Given the description of an element on the screen output the (x, y) to click on. 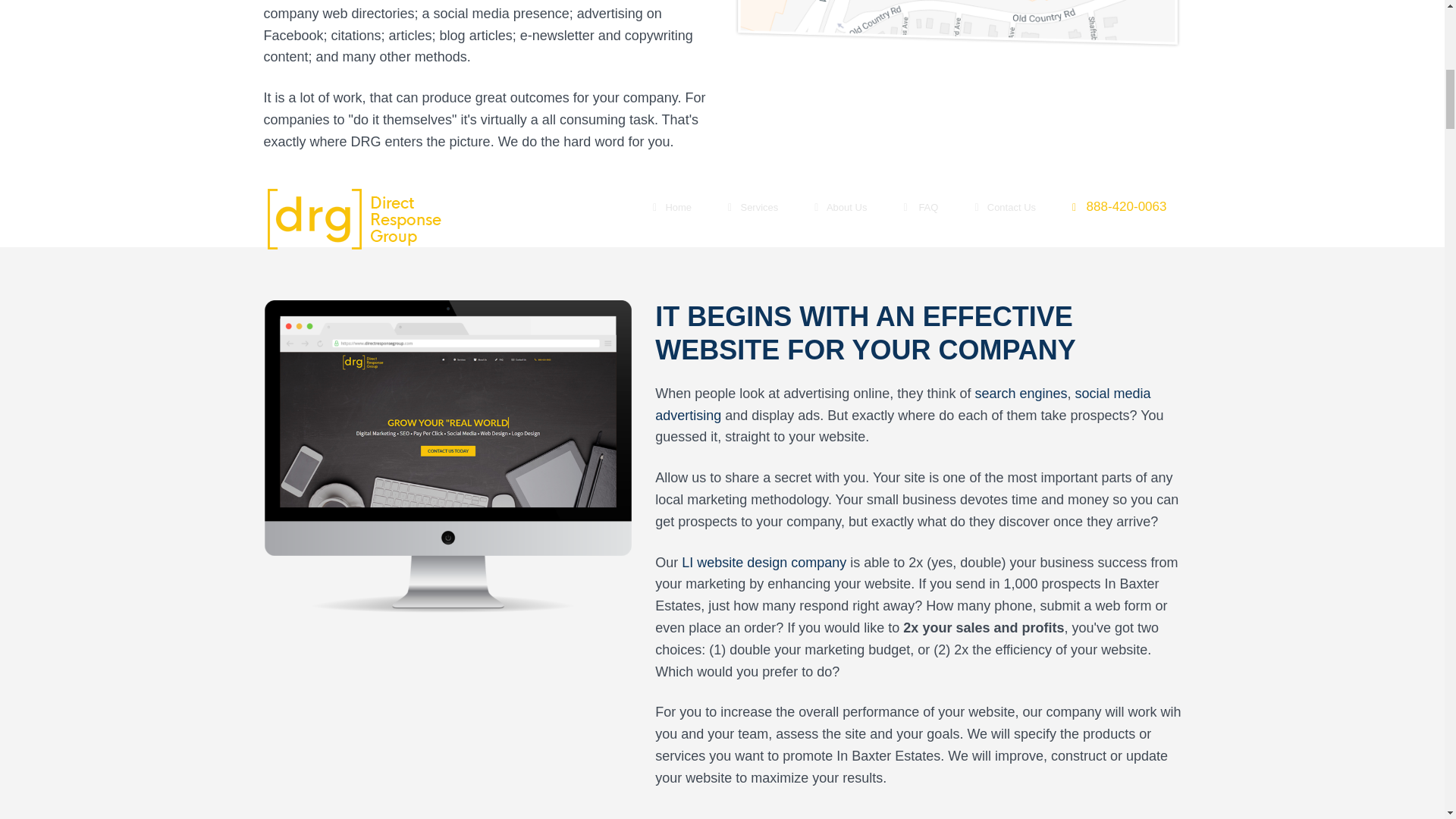
LI website design company (763, 562)
Find more buyers In Baxter Estates (956, 24)
social media advertising (902, 404)
search engines (1020, 393)
Local marketing In Baxter Estates (448, 455)
